Given the description of an element on the screen output the (x, y) to click on. 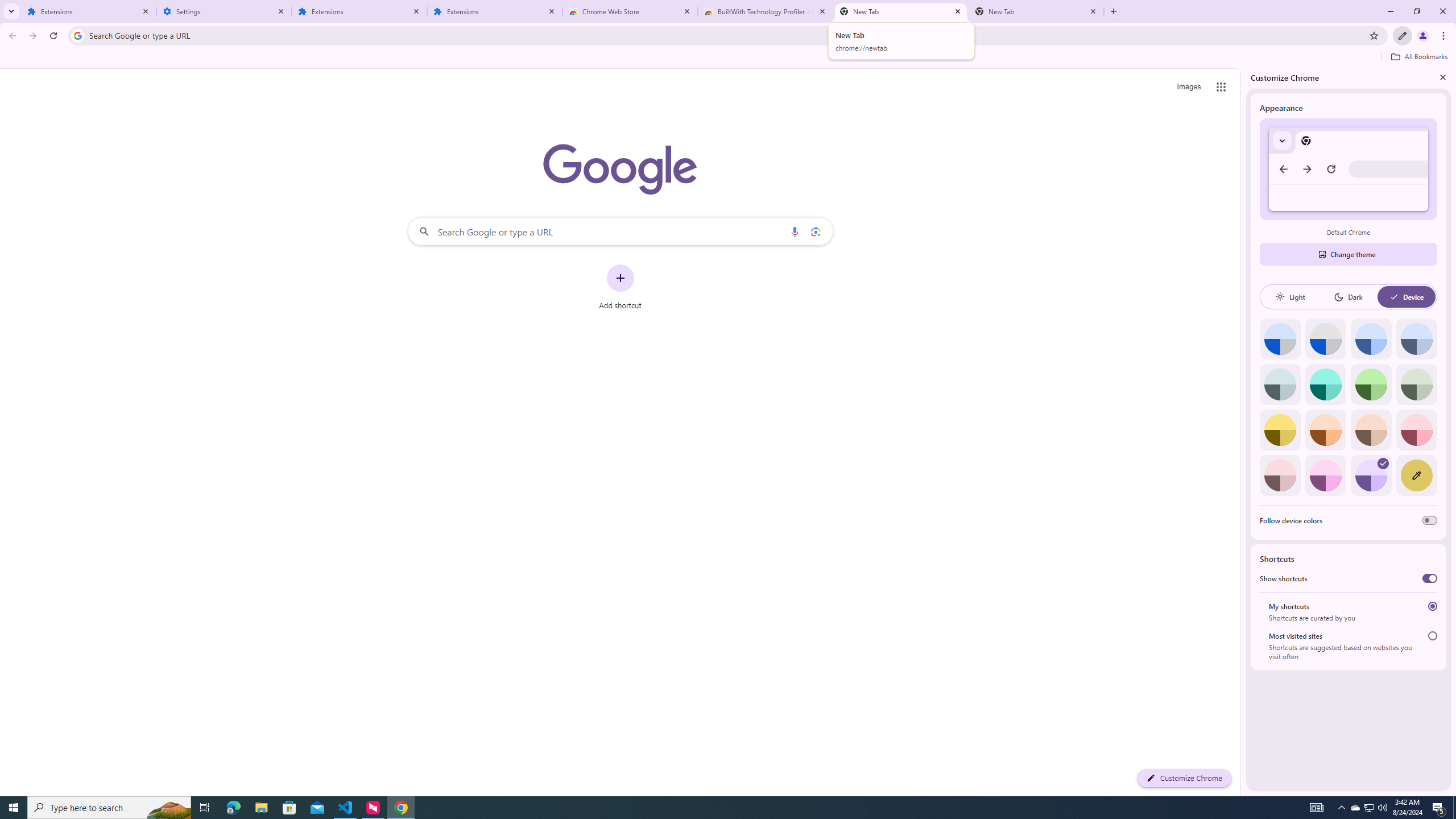
Orange (1325, 429)
Search by voice (794, 230)
Pink (1279, 475)
My shortcuts (1432, 605)
Bookmarks (728, 58)
Customize Chrome (1402, 35)
Search by image (816, 230)
Add shortcut (620, 287)
Rose (1416, 429)
Default Chrome (1348, 169)
Violet (1371, 475)
